Given the description of an element on the screen output the (x, y) to click on. 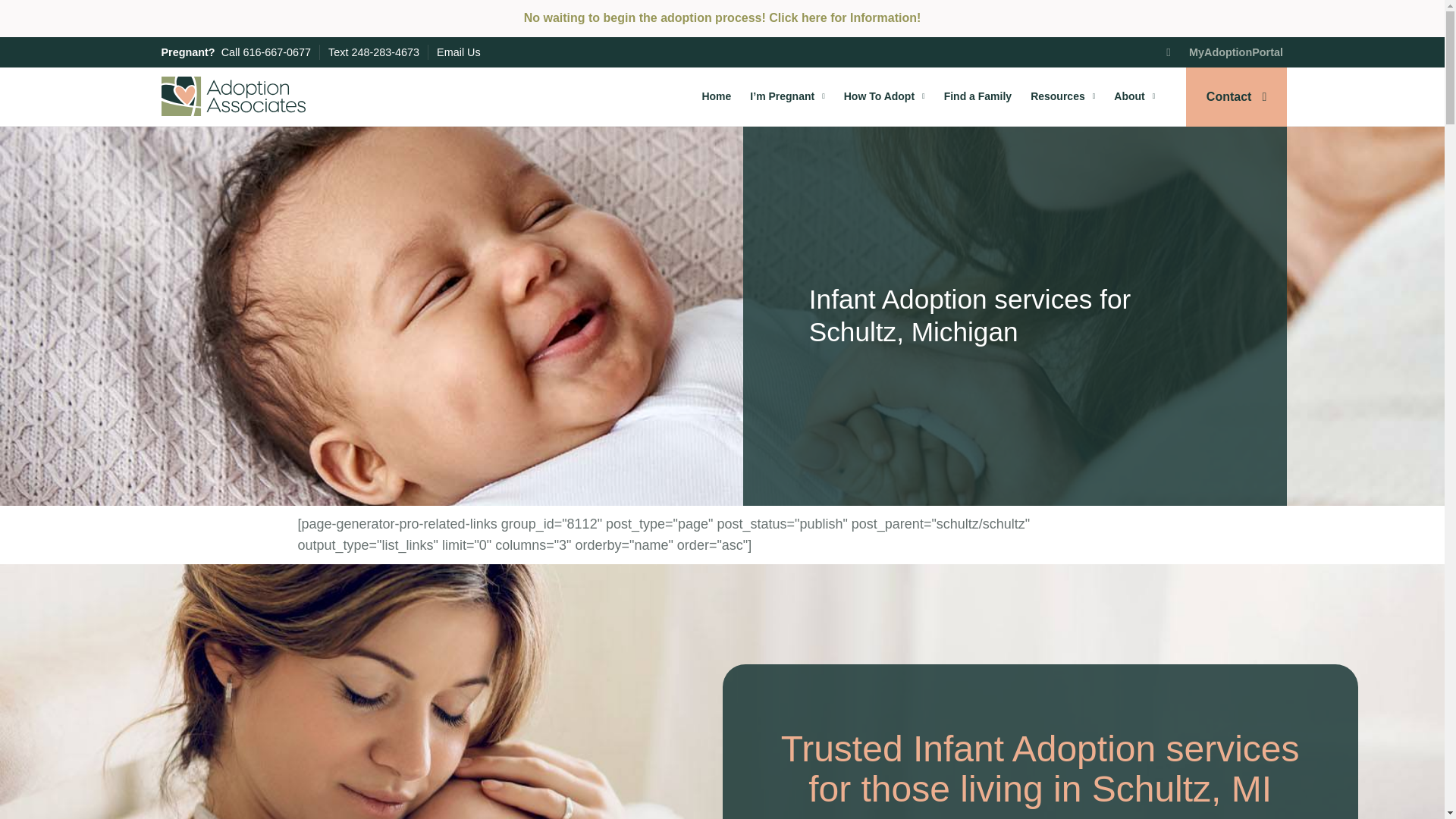
Call 616-667-0677 (266, 52)
Email Us (458, 52)
How To Adopt (884, 95)
Resources (1062, 95)
Home (715, 95)
About (1133, 95)
Text 248-283-4673 (374, 52)
MyAdoptionPortal (1224, 52)
Find a Family (977, 95)
